Given the description of an element on the screen output the (x, y) to click on. 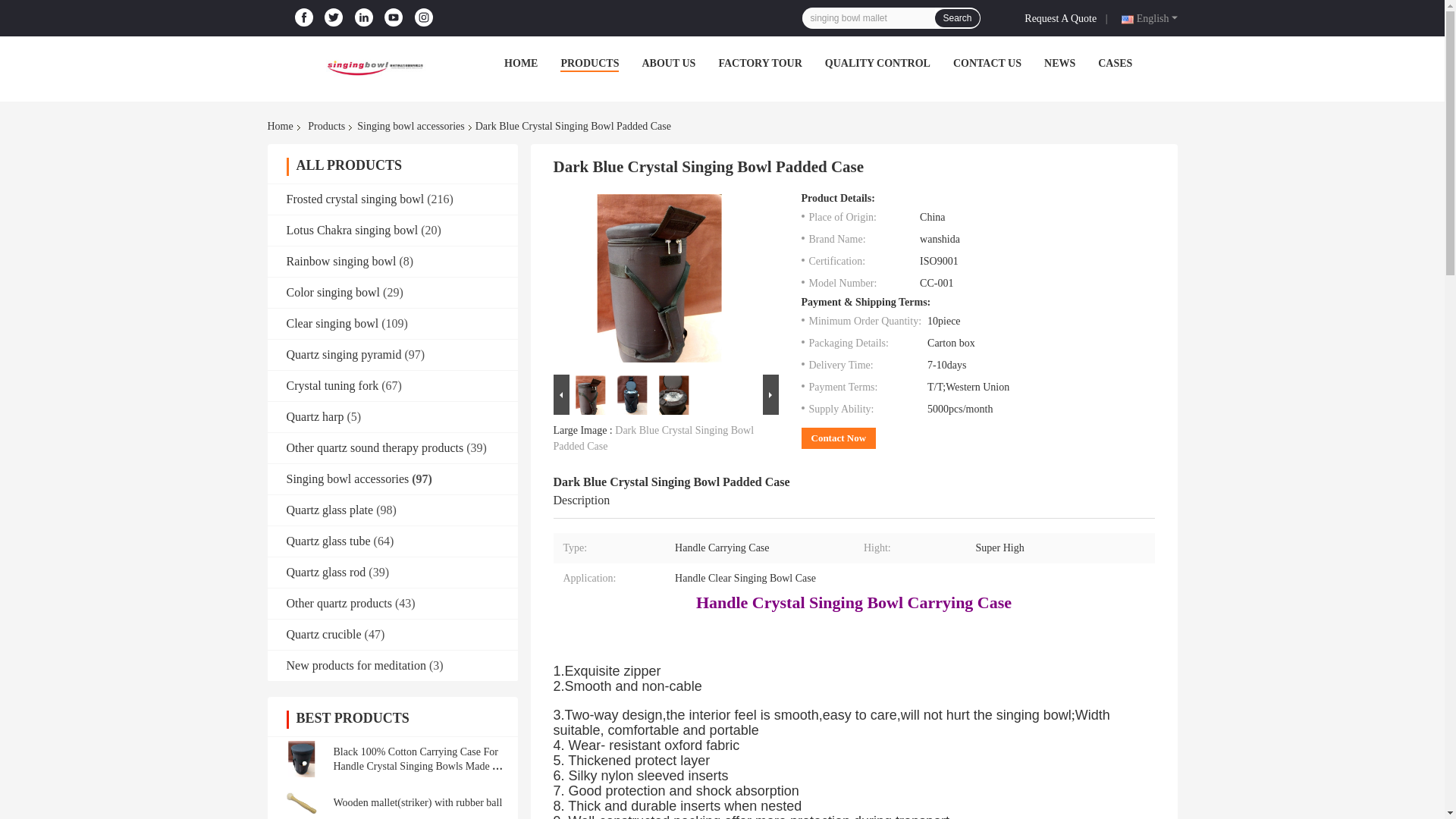
Quartz glass plate (330, 509)
QUALITY CONTROL (877, 62)
New products for meditation (356, 665)
PRODUCTS (589, 62)
Jinzhou Wanshida Quartz Glass Co.,Ltd LinkedIn (363, 17)
Frosted crystal singing bowl (355, 198)
Jinzhou Wanshida Quartz Glass Co.,Ltd (373, 66)
Crystal tuning fork (332, 385)
Quartz harp (314, 416)
Jinzhou Wanshida Quartz Glass Co.,Ltd YouTube (393, 17)
